Given the description of an element on the screen output the (x, y) to click on. 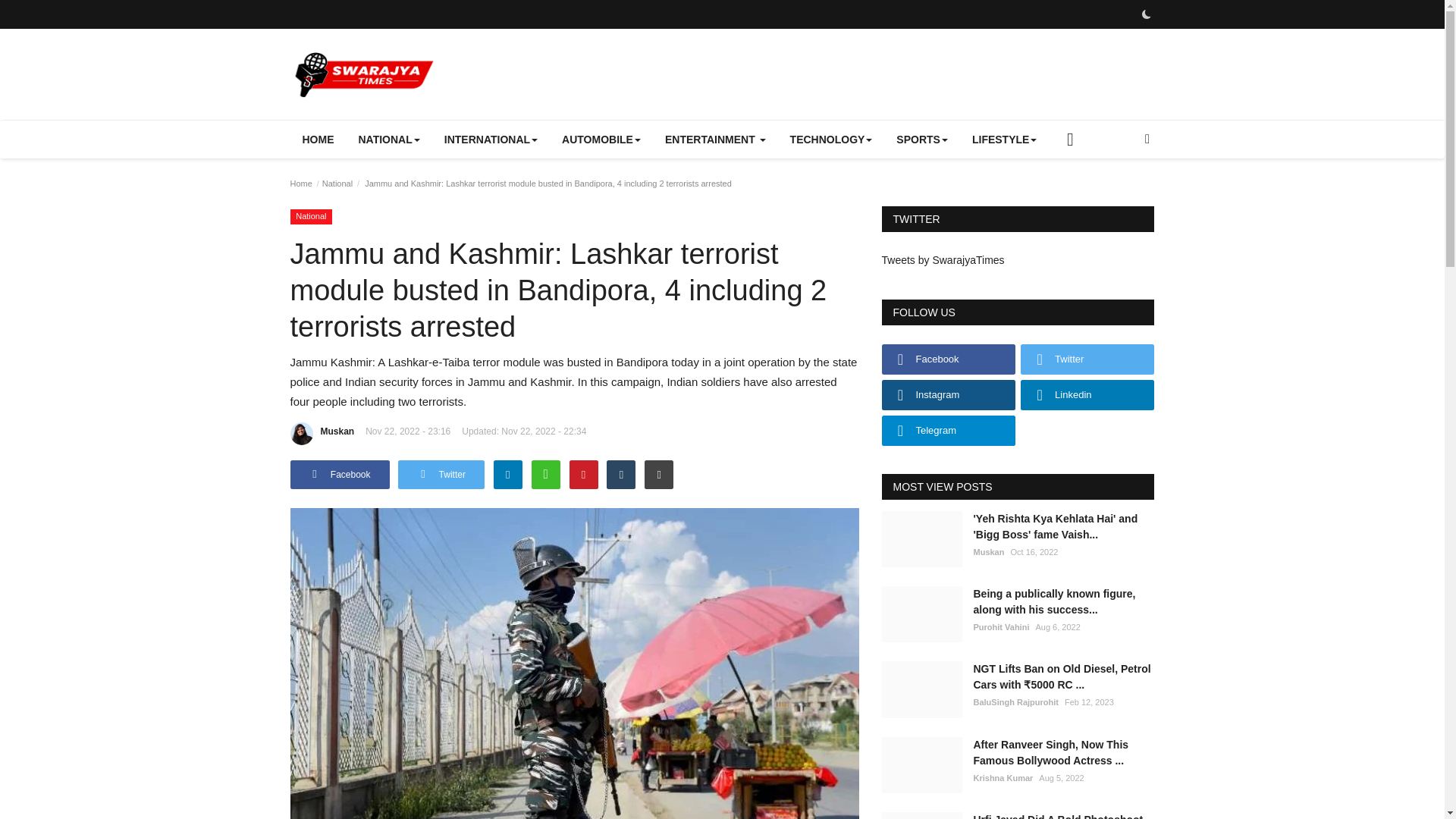
HOME (317, 139)
NATIONAL (388, 139)
INTERNATIONAL (491, 139)
dark (1145, 14)
AUTOMOBILE (601, 139)
